Given the description of an element on the screen output the (x, y) to click on. 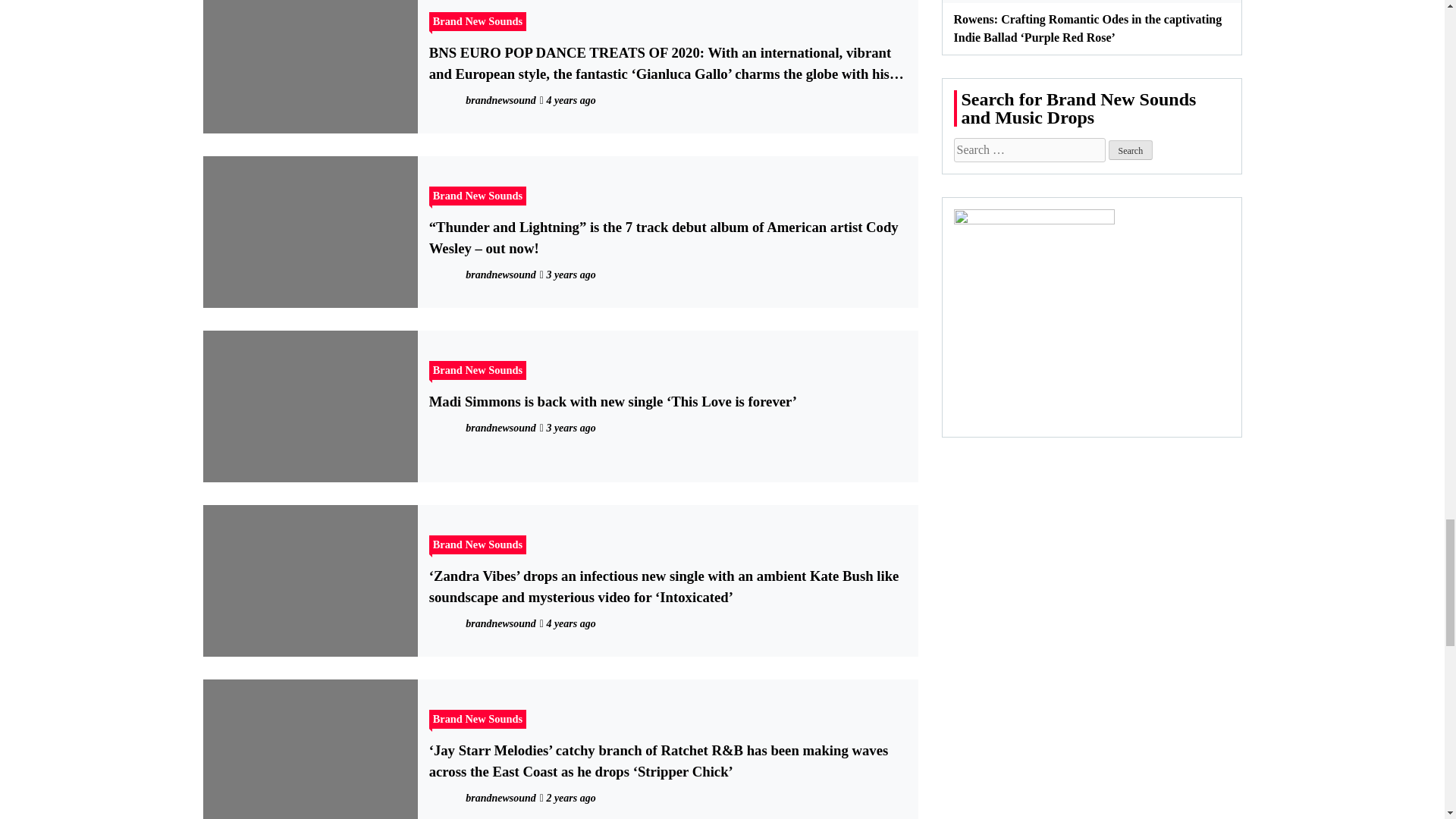
Search (1130, 149)
Search (1130, 149)
